Given the description of an element on the screen output the (x, y) to click on. 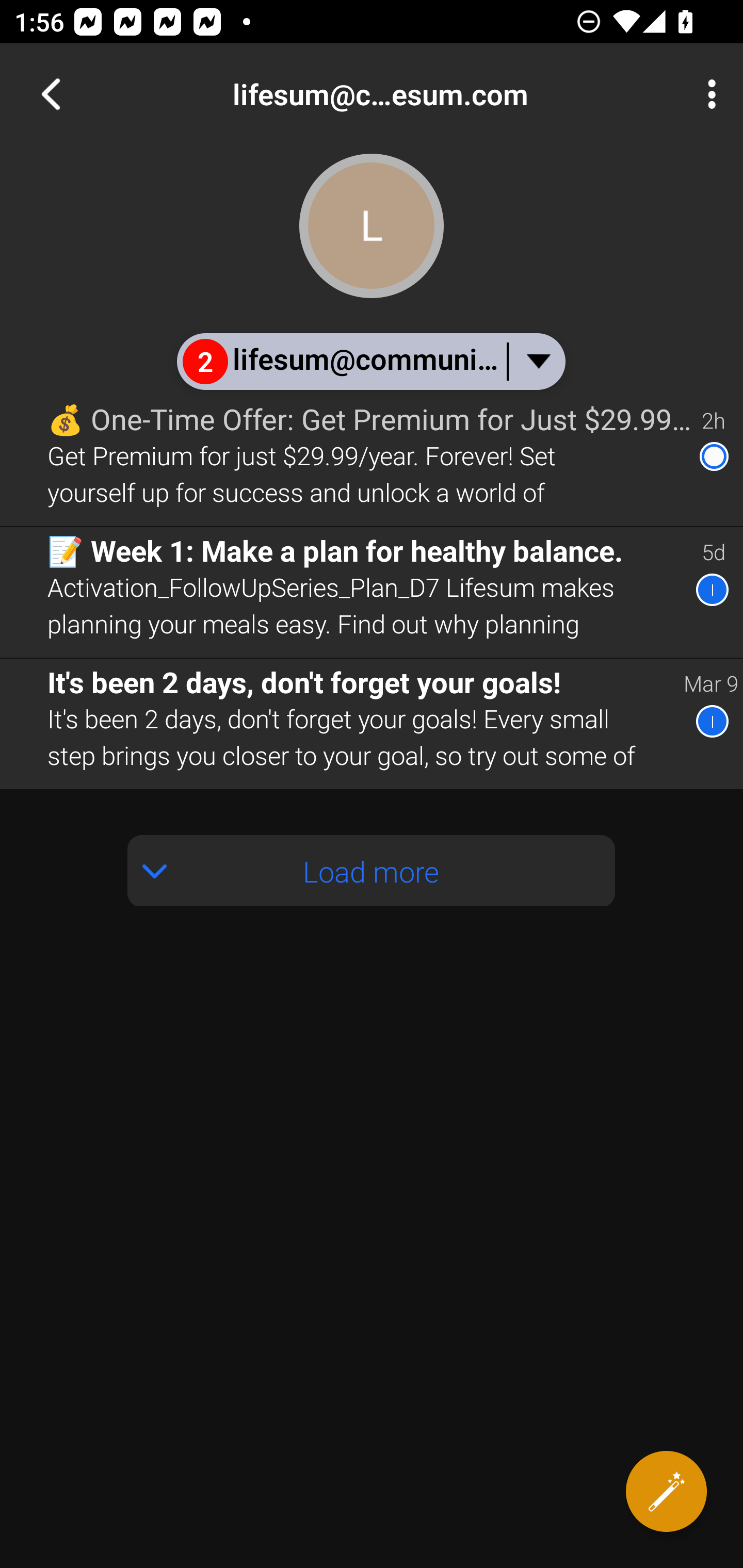
Navigate up (50, 93)
lifesum@communication.lifesum.com (436, 93)
More Options (706, 93)
2 lifesum@communication.lifesum.com & You (370, 361)
Load more (371, 870)
